Given the description of an element on the screen output the (x, y) to click on. 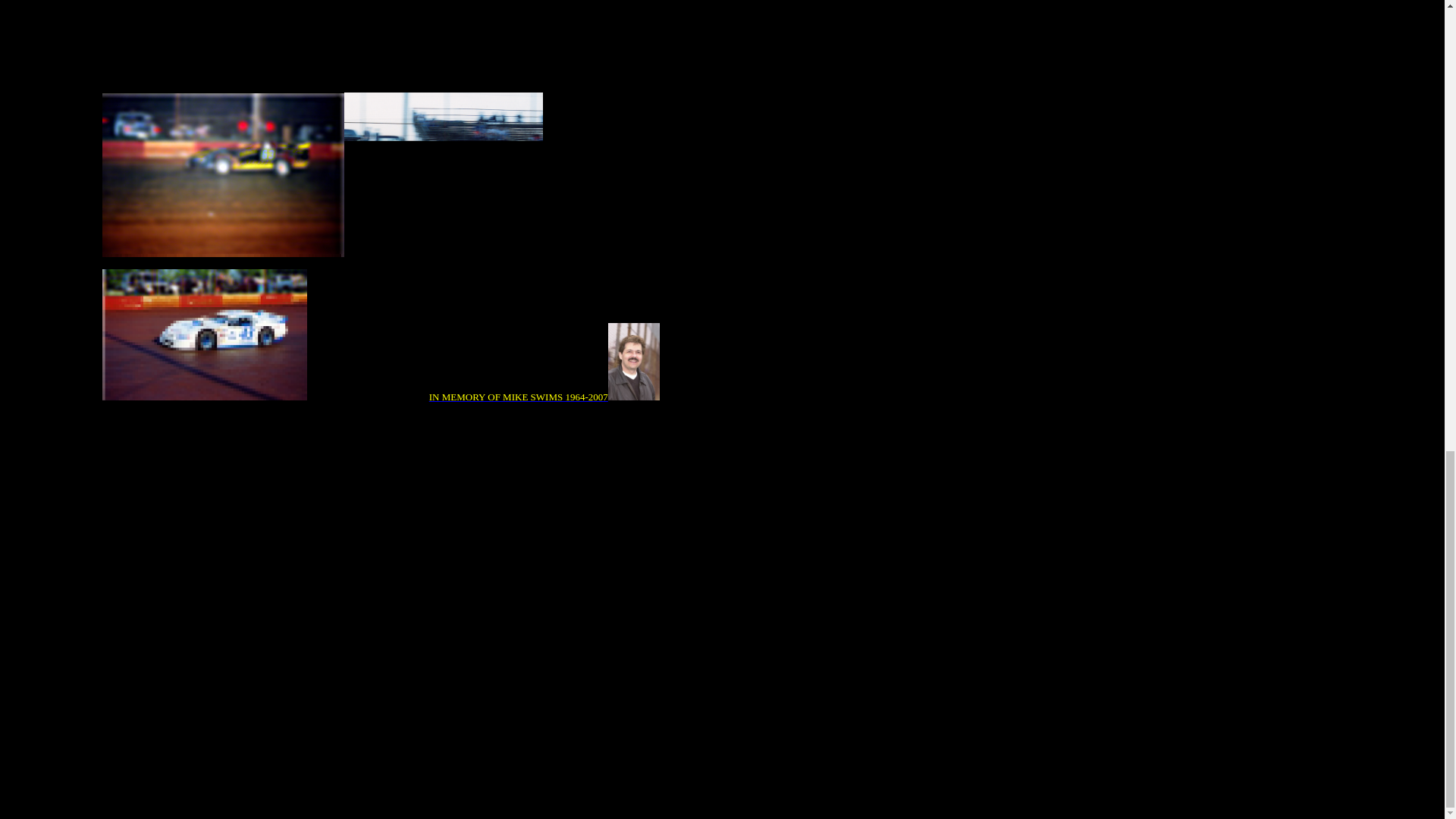
IN MEMORY OF MIKE SWIMS 1964-2007 (518, 396)
